Given the description of an element on the screen output the (x, y) to click on. 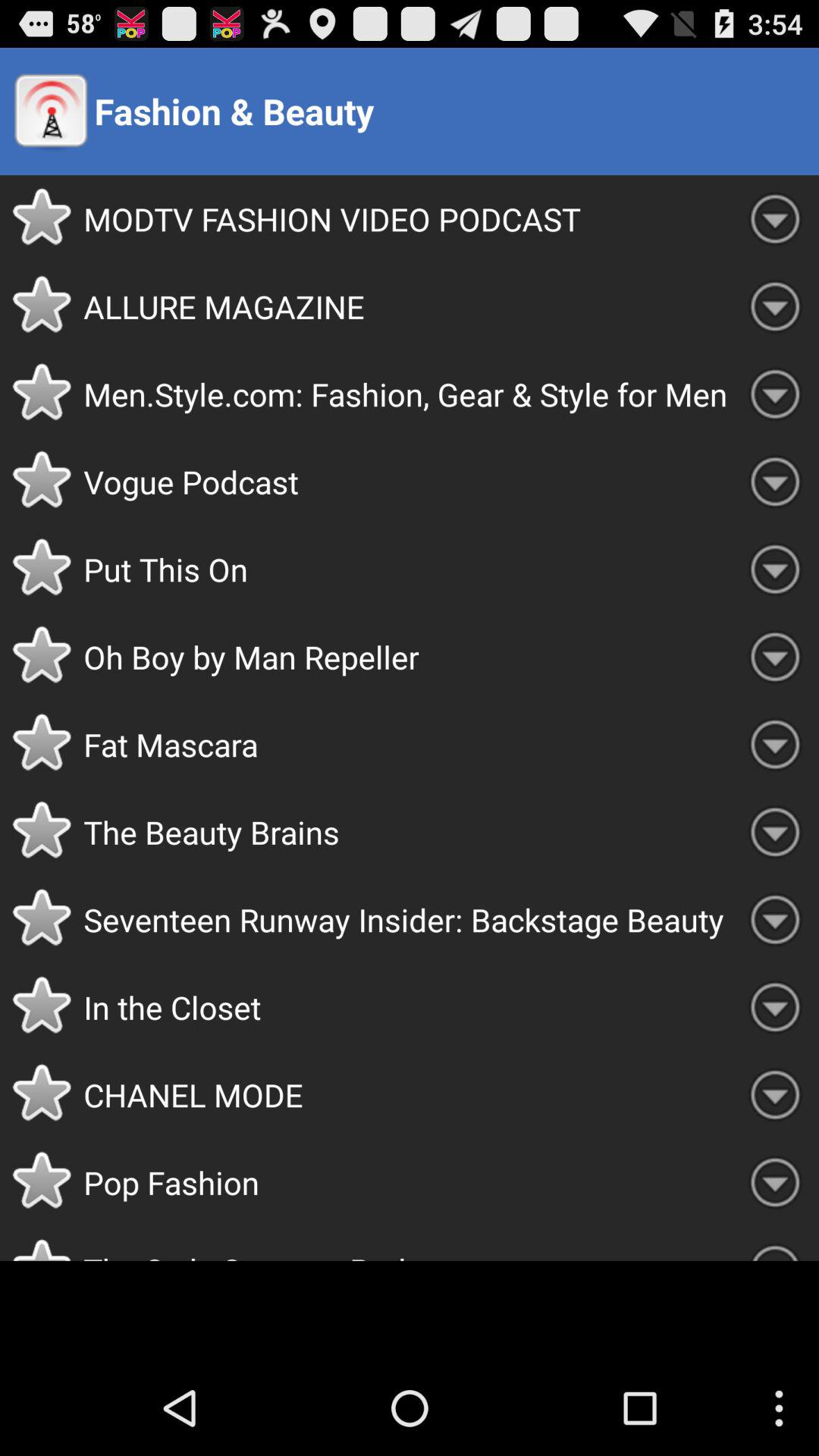
open the pop fashion item (407, 1182)
